Given the description of an element on the screen output the (x, y) to click on. 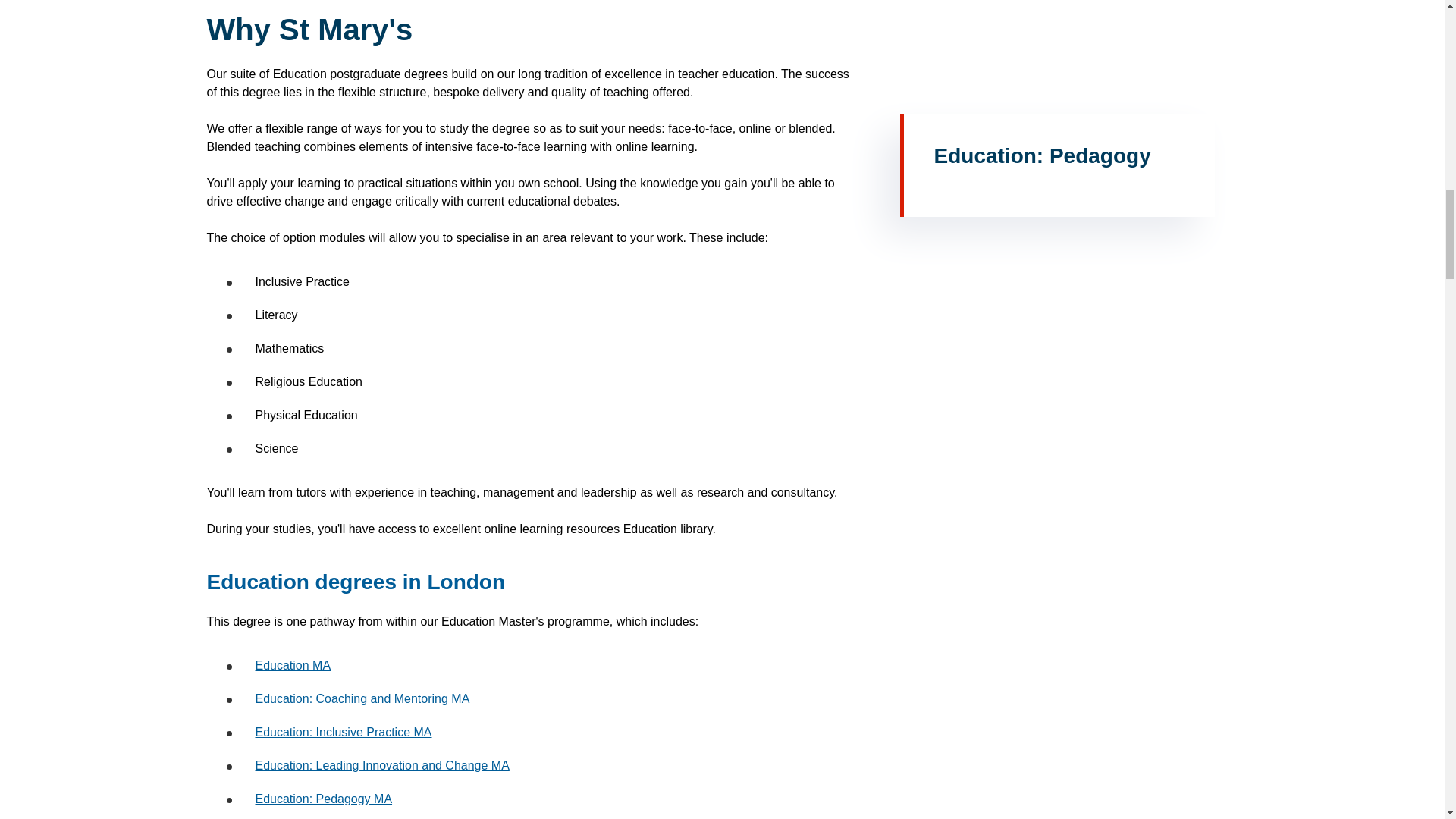
Education: Coaching and Mentoring MA (361, 698)
Education: Pedagogy MA (322, 798)
Education: Inclusive Practice MA (342, 731)
Education: Leading Innovation and Change MA degree (381, 765)
Education MA (292, 665)
Education: Pedagogy MA degree (322, 798)
Education: Leading Innovation and Change MA (381, 765)
Education: Coaching and Mentoring MA degree (361, 698)
Education: Inclusive Practice MA degree (342, 731)
Education MA degree (292, 665)
